Given the description of an element on the screen output the (x, y) to click on. 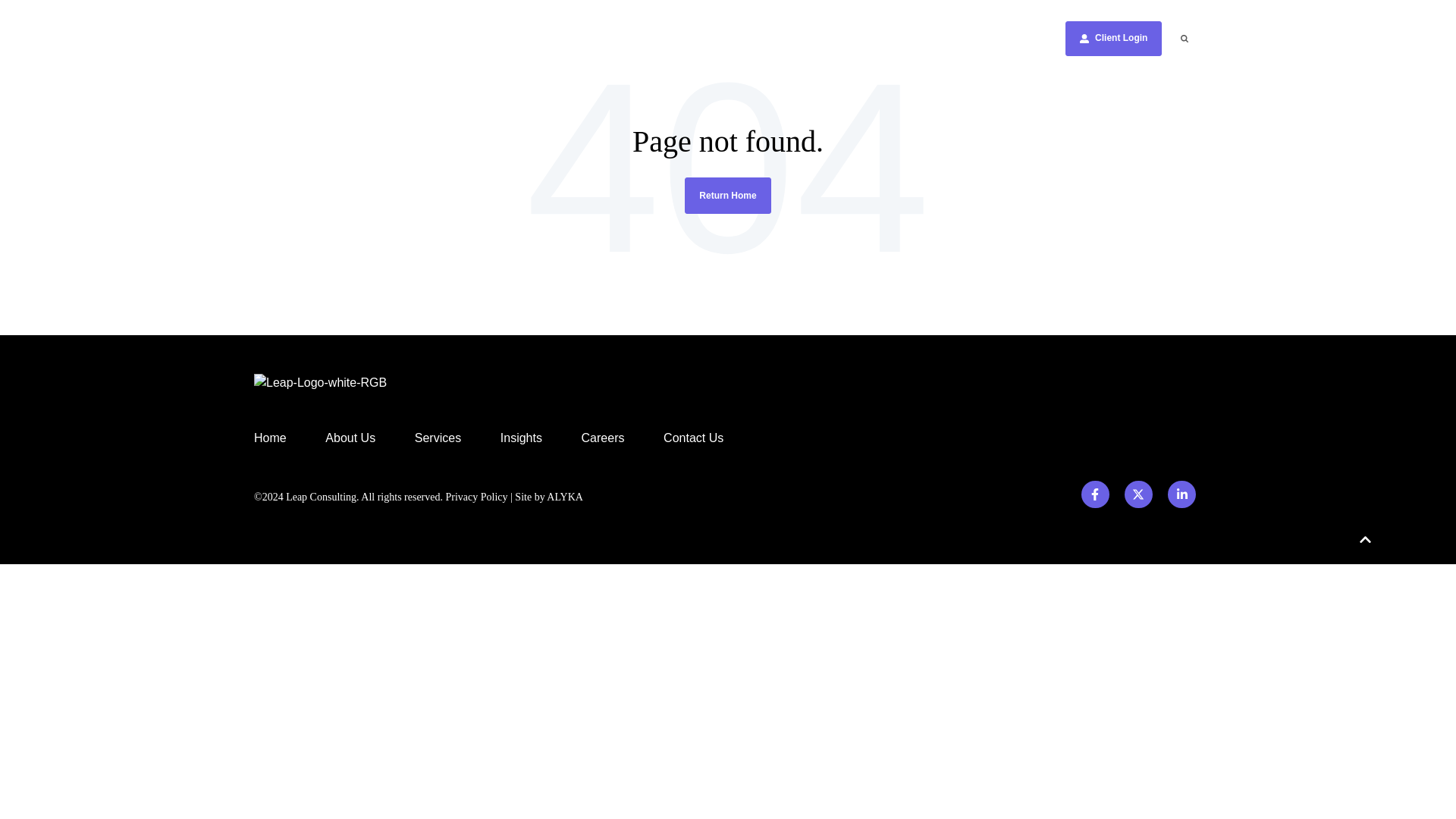
Contact Us (806, 37)
Client Login (943, 37)
